Given the description of an element on the screen output the (x, y) to click on. 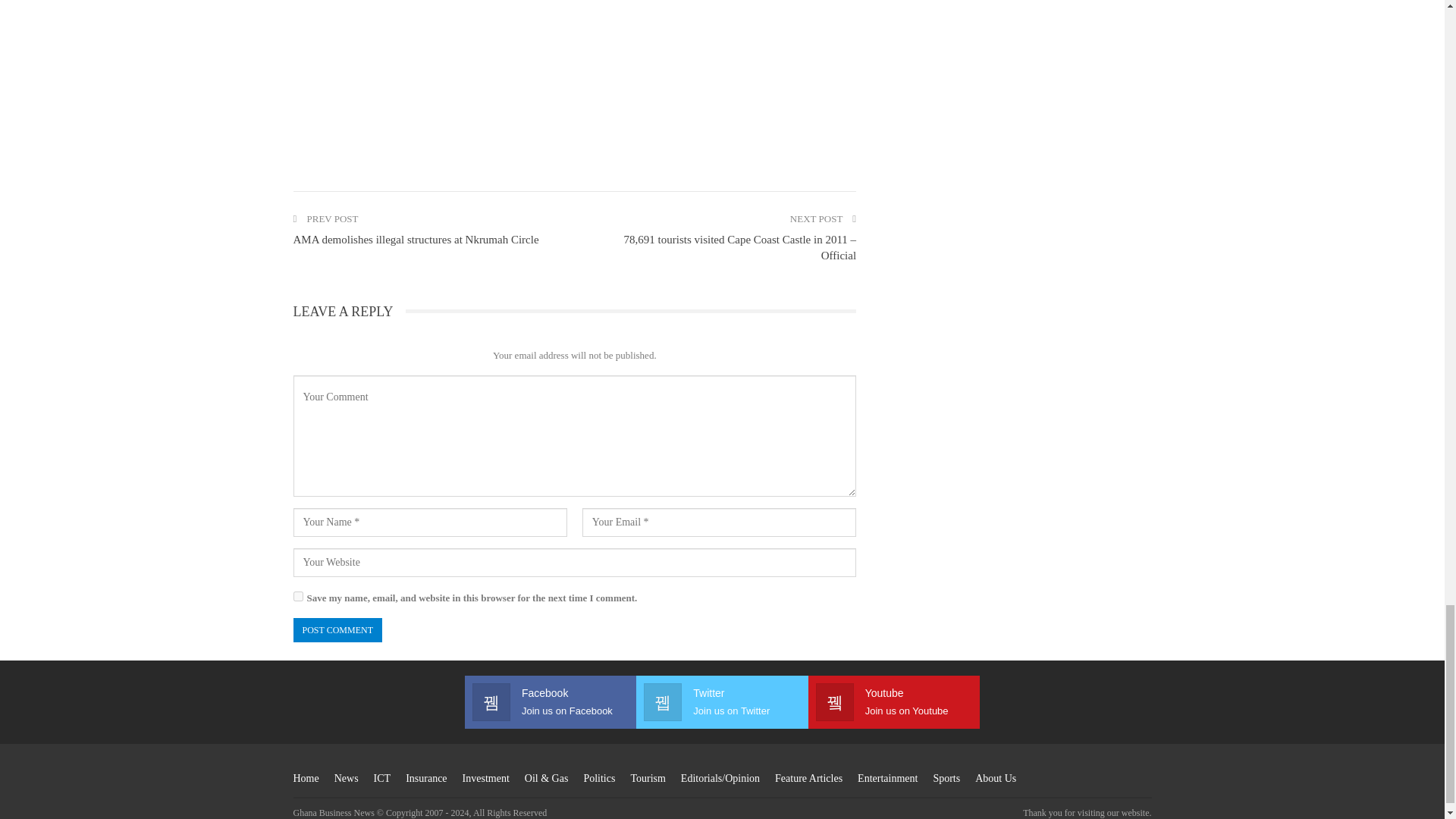
Post Comment (336, 630)
Post Comment (336, 630)
yes (297, 596)
AMA demolishes illegal structures at Nkrumah Circle (415, 239)
